Given the description of an element on the screen output the (x, y) to click on. 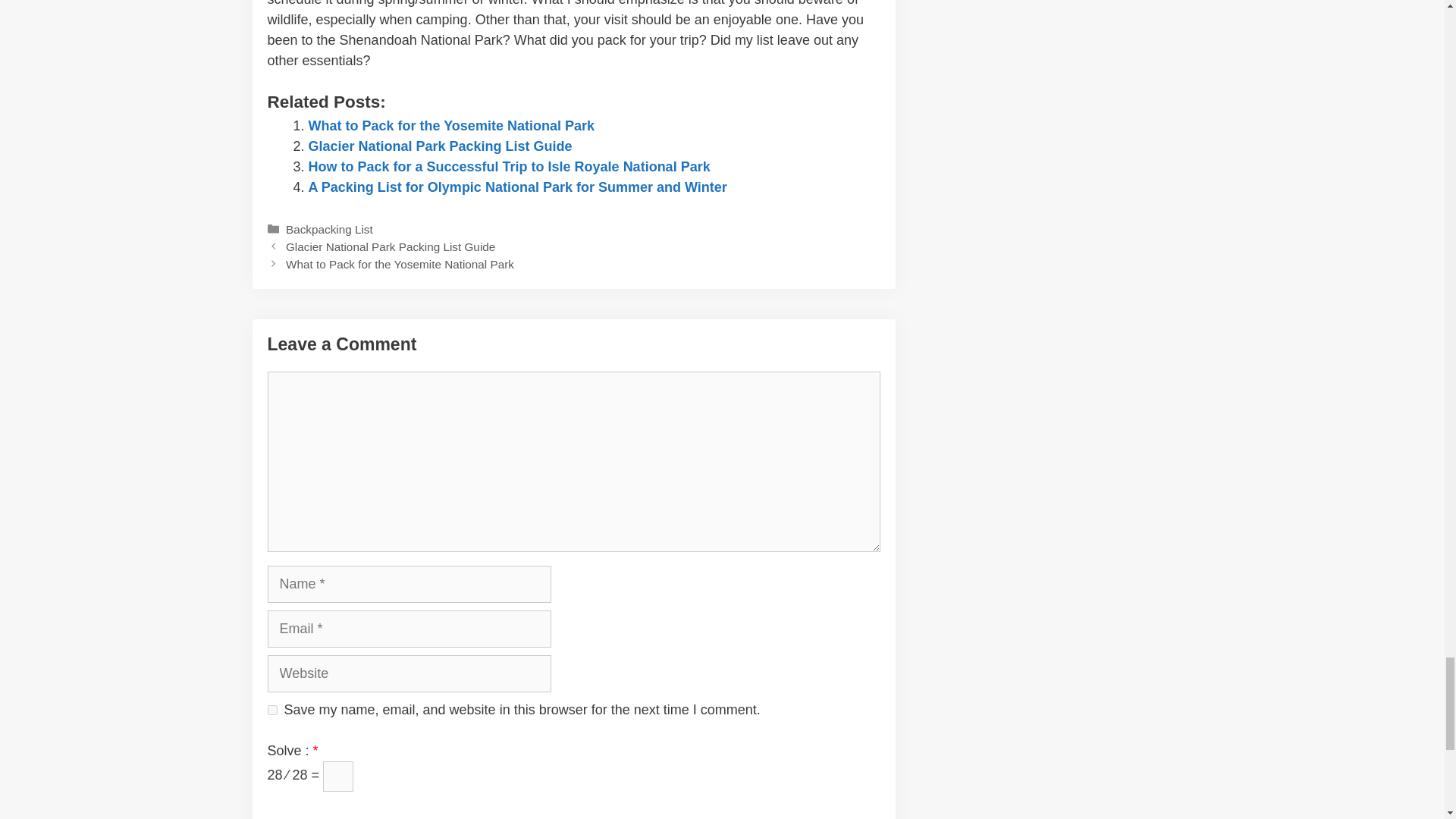
Glacier National Park Packing List Guide (439, 145)
What to Pack for the Yosemite National Park (450, 125)
yes (271, 709)
